Given the description of an element on the screen output the (x, y) to click on. 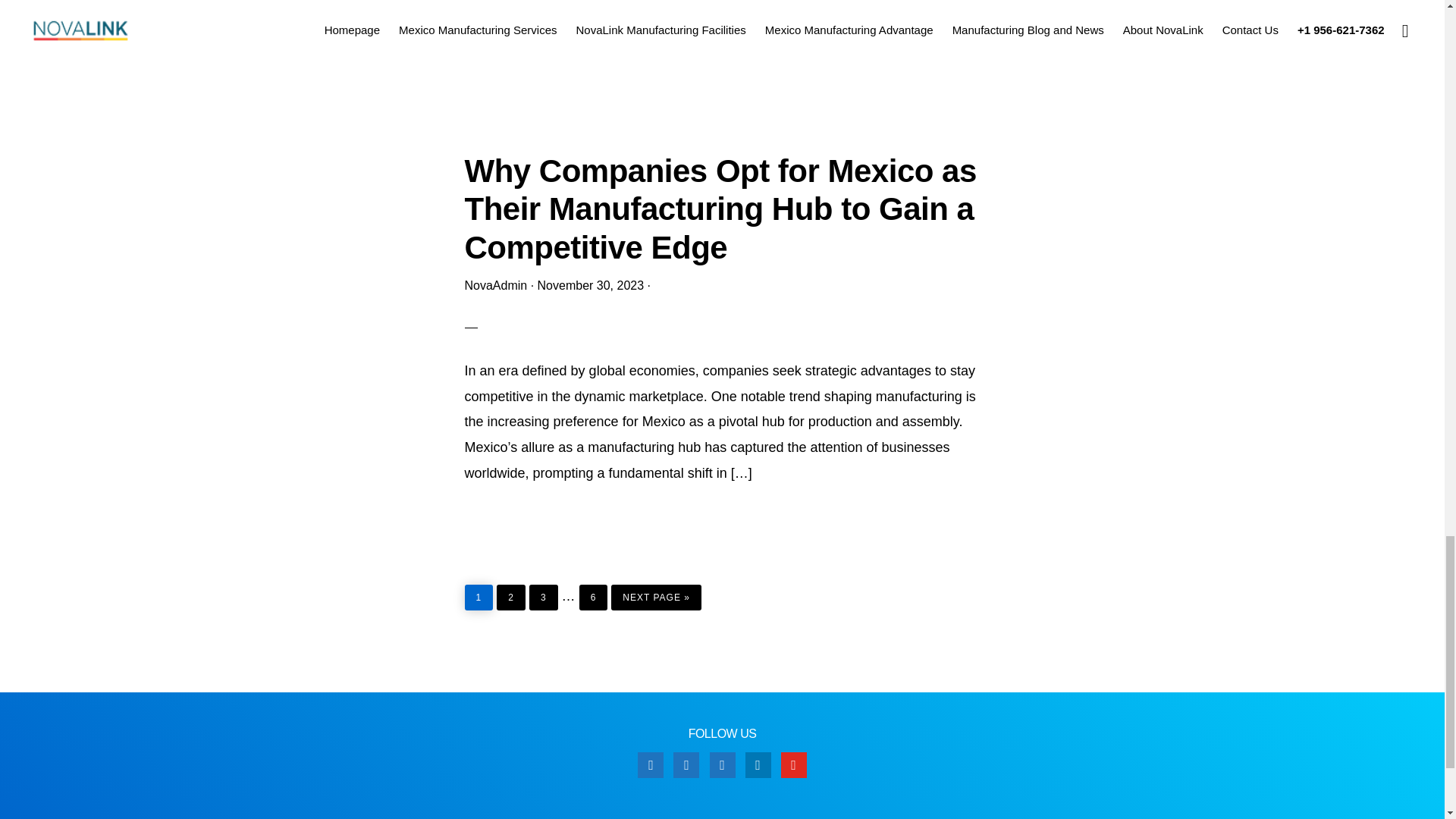
Twitter (685, 763)
Instagram (722, 763)
Facebook (650, 763)
